Given the description of an element on the screen output the (x, y) to click on. 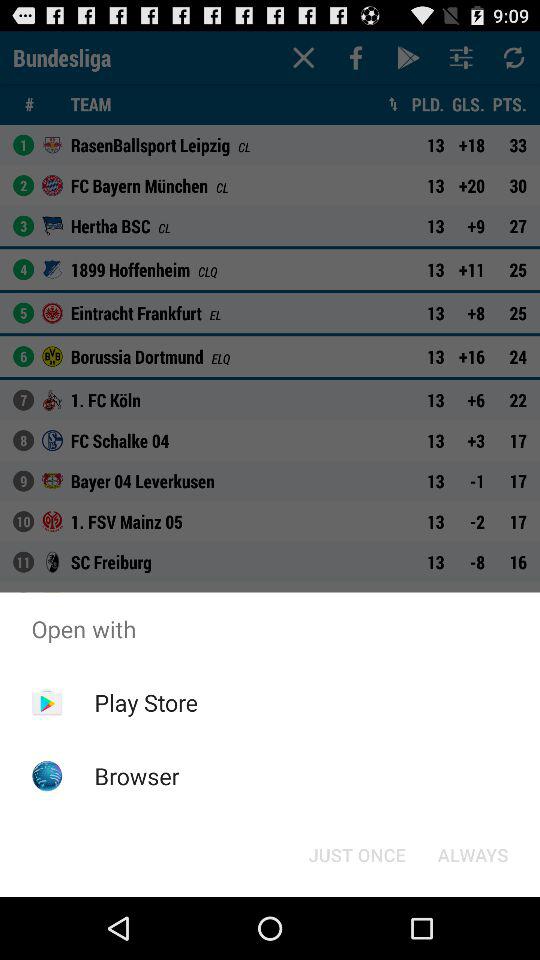
select button next to the just once button (472, 854)
